Given the description of an element on the screen output the (x, y) to click on. 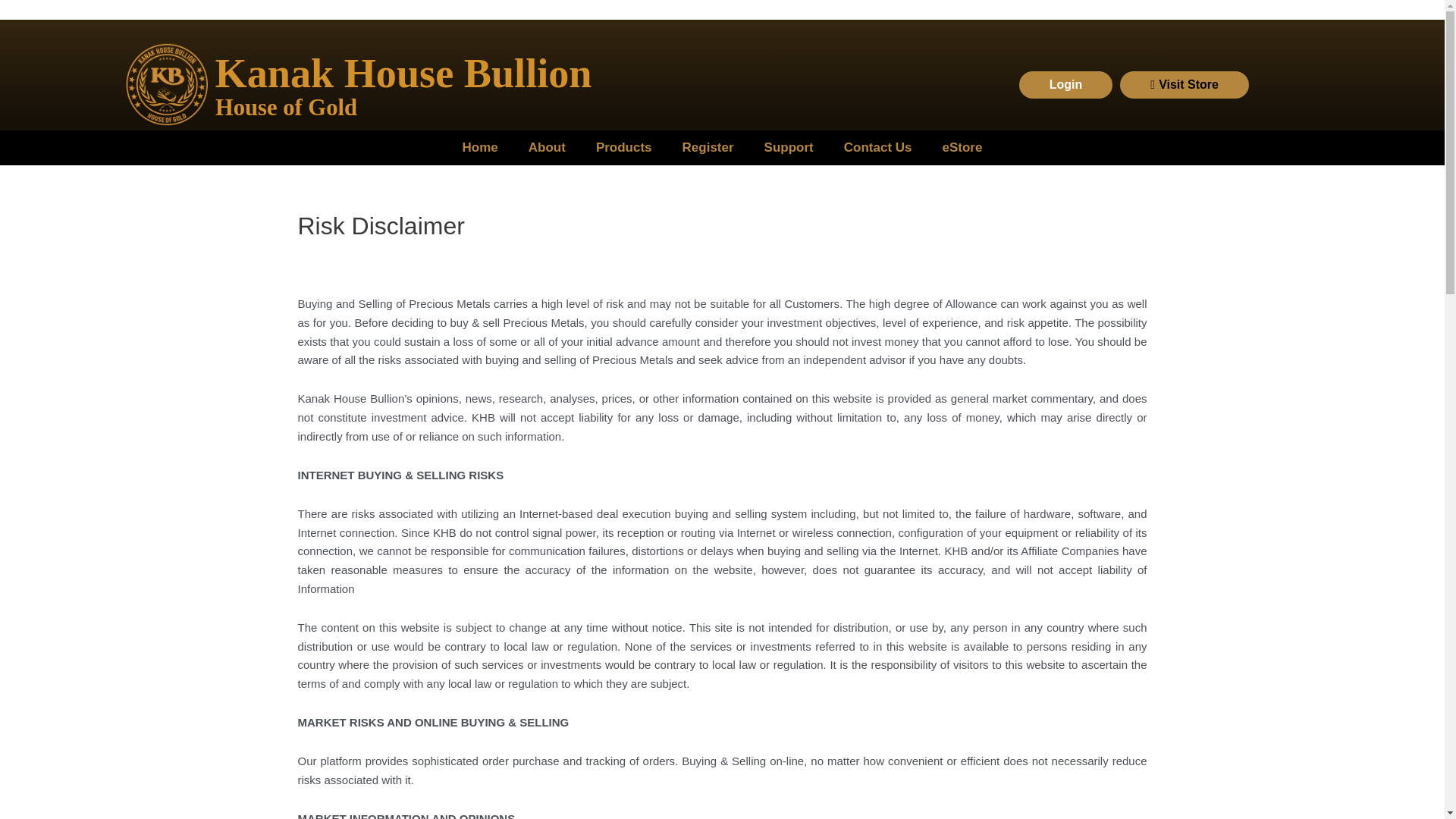
eStore (961, 147)
Register (707, 147)
Visit Store (1184, 84)
Support (788, 147)
Contact Us (877, 147)
Home (479, 147)
About (546, 147)
Login (1066, 84)
Products (623, 147)
